Given the description of an element on the screen output the (x, y) to click on. 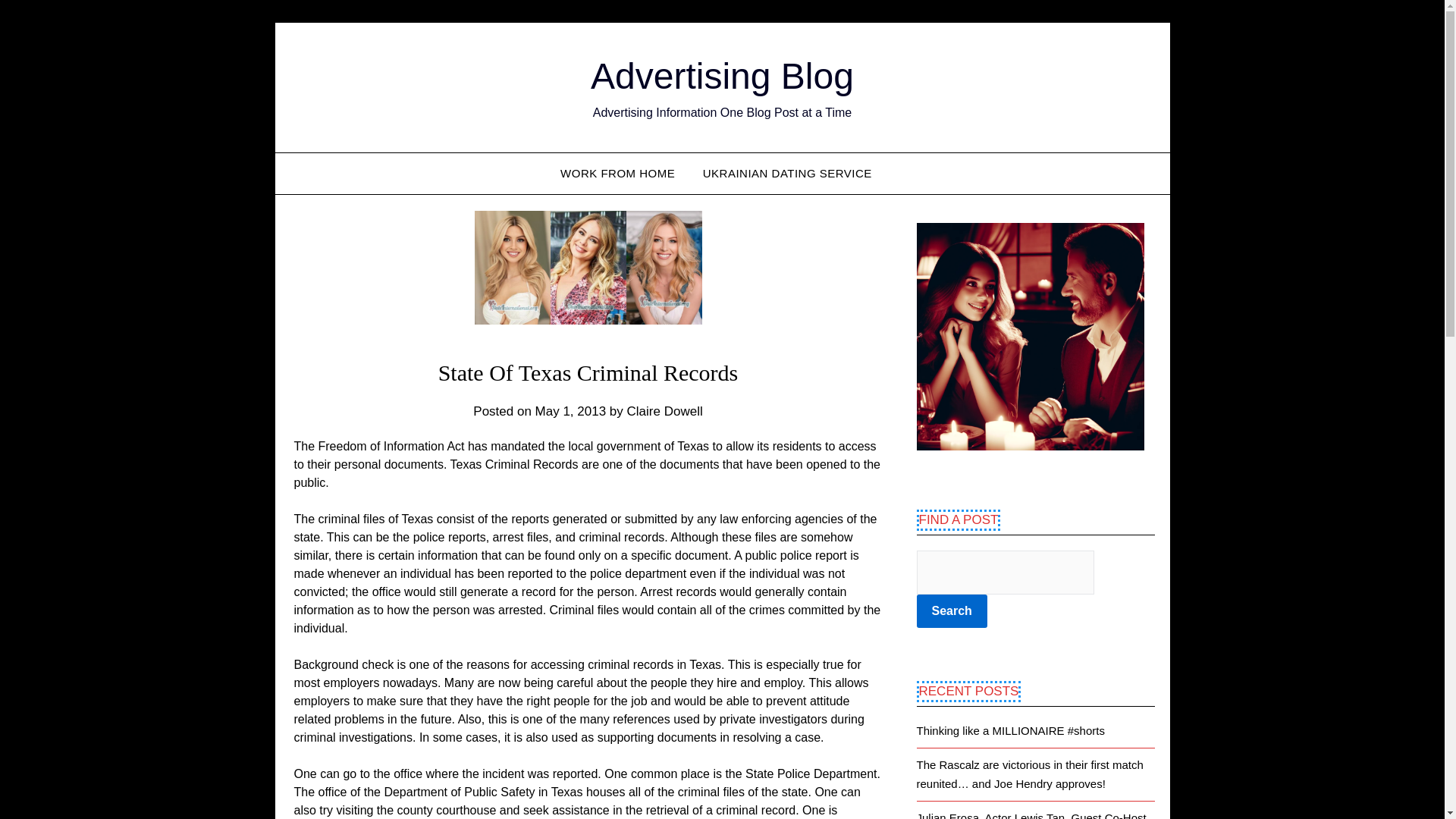
Search (951, 611)
Claire Dowell (665, 411)
UKRAINIAN DATING SERVICE (786, 173)
Advertising Blog (722, 76)
May 1, 2013 (571, 411)
WORK FROM HOME (623, 173)
Search (951, 611)
